Given the description of an element on the screen output the (x, y) to click on. 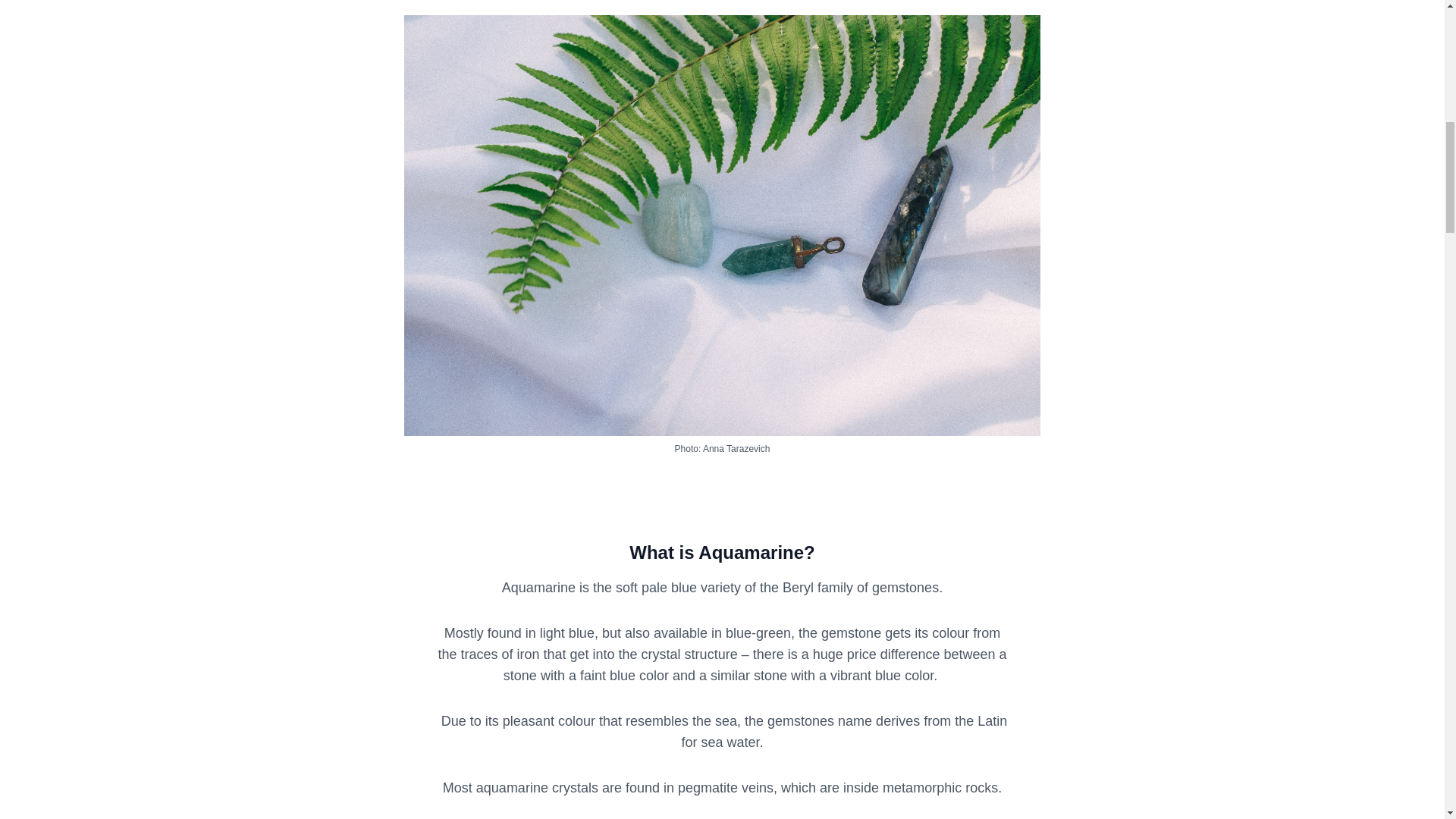
Anna Tarazevich (735, 448)
